Given the description of an element on the screen output the (x, y) to click on. 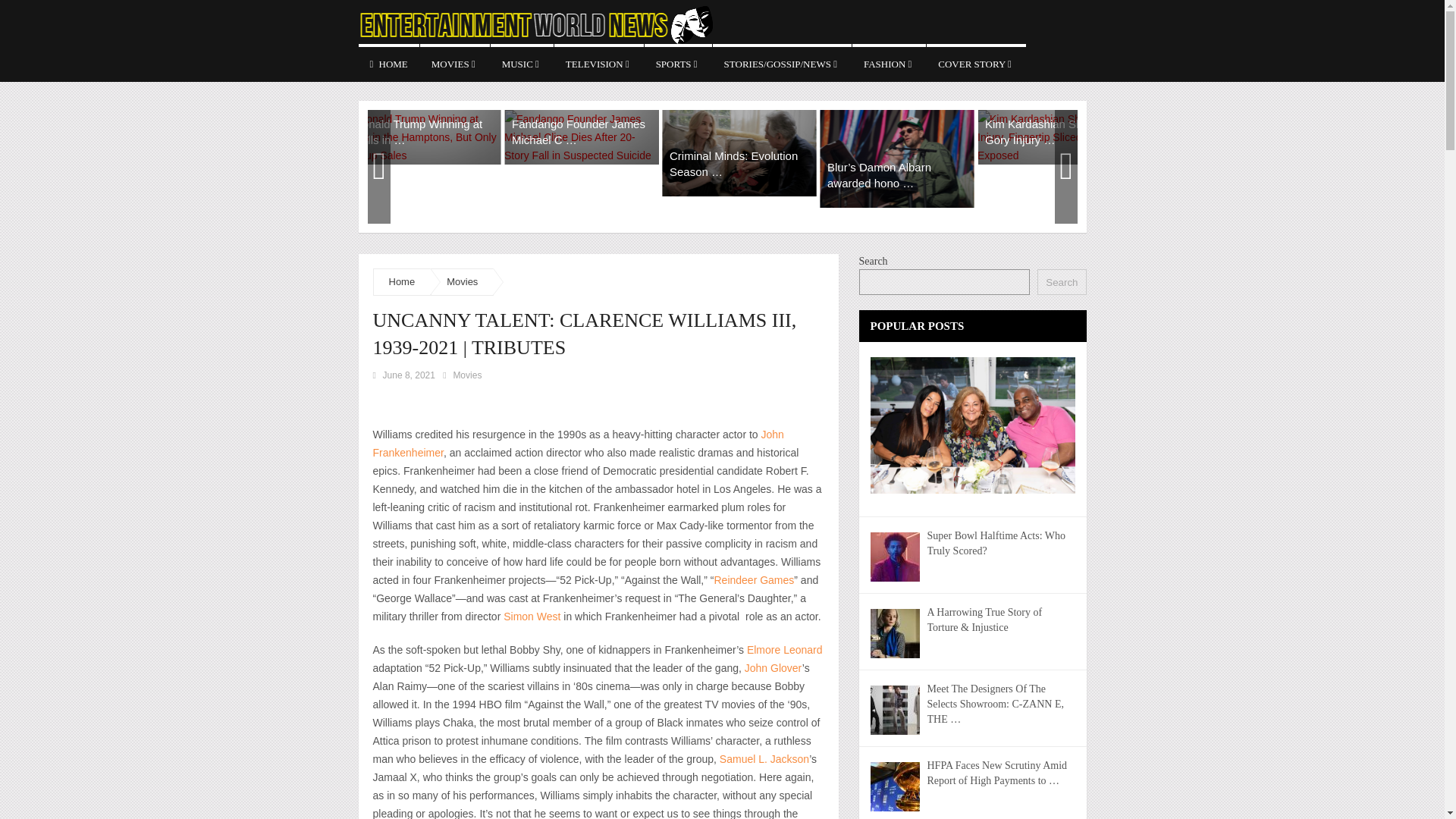
MOVIES (454, 62)
HOME (388, 62)
TELEVISION (598, 62)
COVER STORY (976, 62)
FASHION (888, 62)
MUSIC (521, 62)
SPORTS (678, 62)
